Given the description of an element on the screen output the (x, y) to click on. 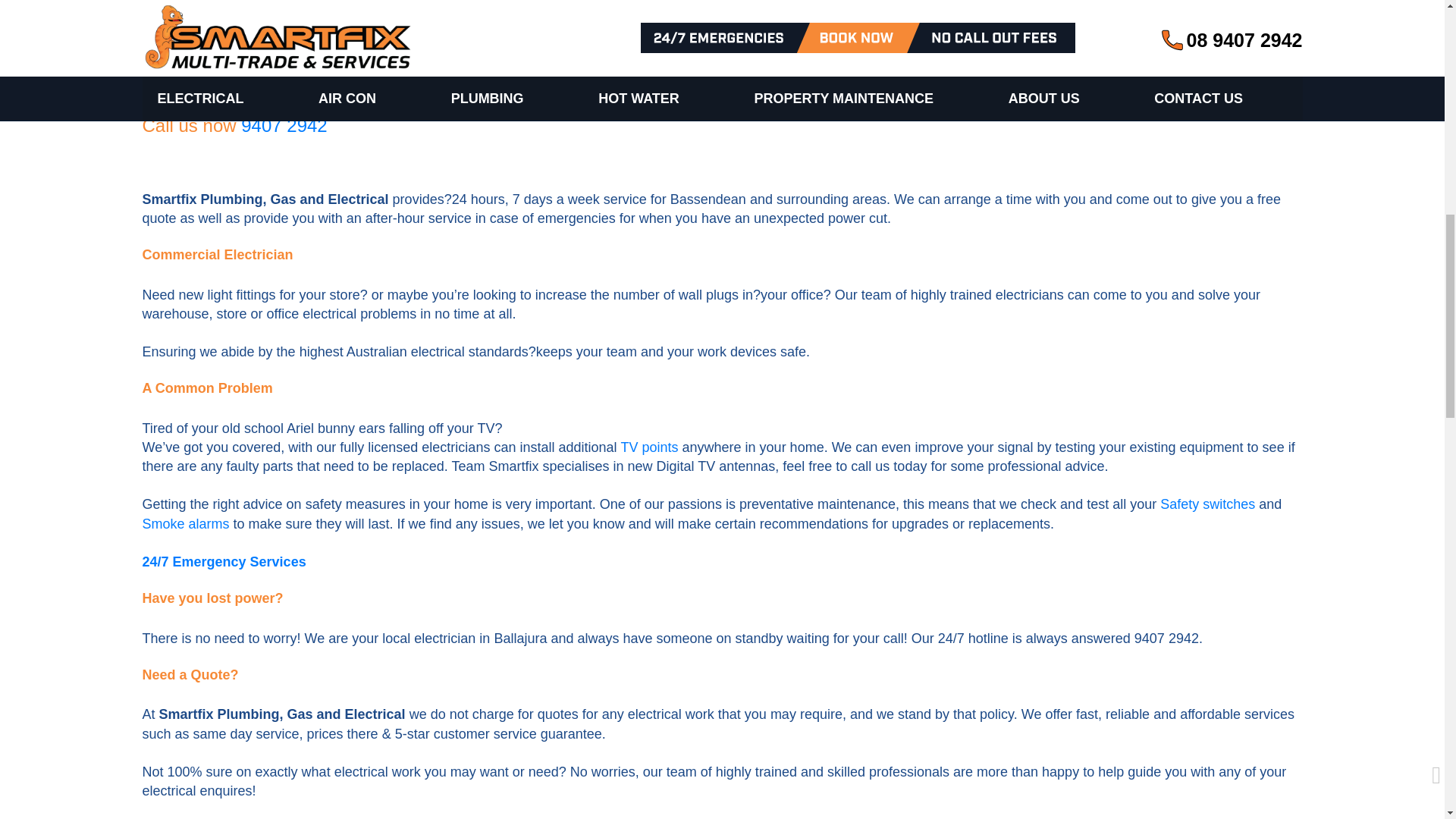
Call us (283, 125)
